Given the description of an element on the screen output the (x, y) to click on. 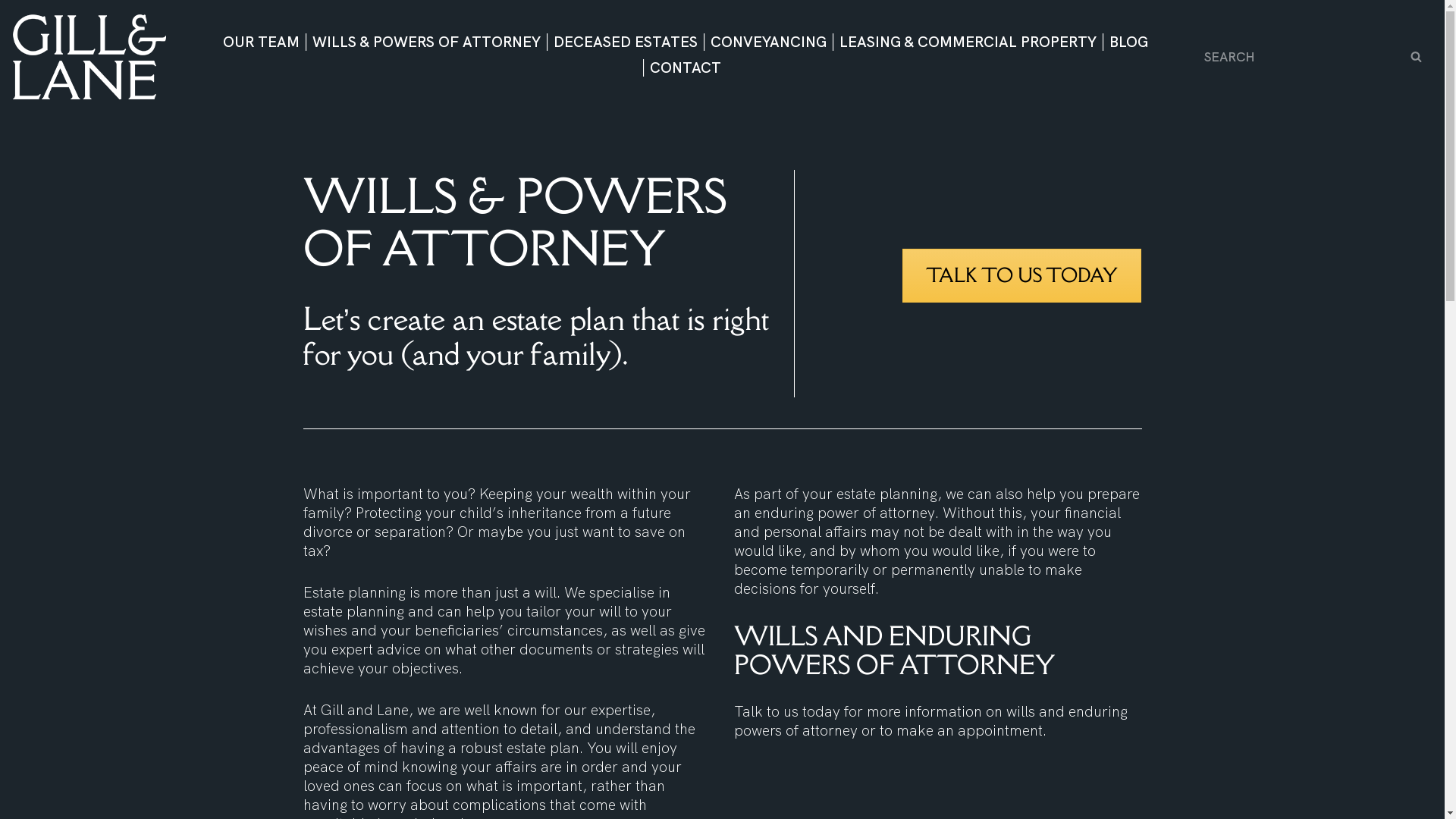
DECEASED ESTATES Element type: text (625, 41)
TALK TO US TODAY Element type: text (1021, 275)
CONVEYANCING Element type: text (767, 41)
WILLS & POWERS OF ATTORNEY Element type: text (426, 41)
LEASING & COMMERCIAL PROPERTY Element type: text (966, 41)
BLOG Element type: text (1127, 41)
Skip to content Element type: text (11, 31)
CONTACT Element type: text (685, 67)
OUR TEAM Element type: text (260, 41)
